Given the description of an element on the screen output the (x, y) to click on. 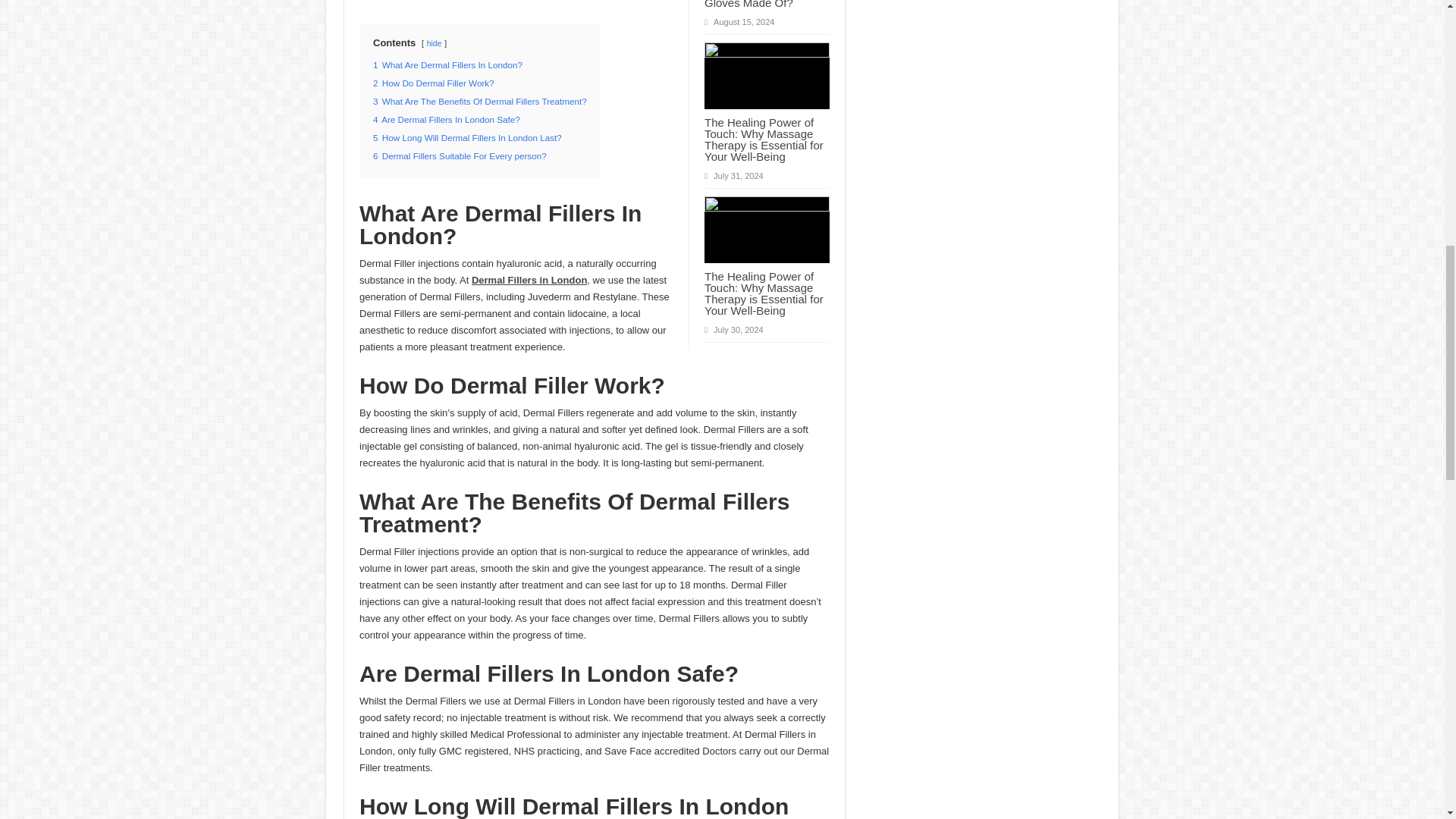
1 What Are Dermal Fillers In London? (447, 64)
What Are Medical Gloves Made Of? (748, 4)
2 How Do Dermal Filler Work? (433, 82)
hide (434, 43)
